Given the description of an element on the screen output the (x, y) to click on. 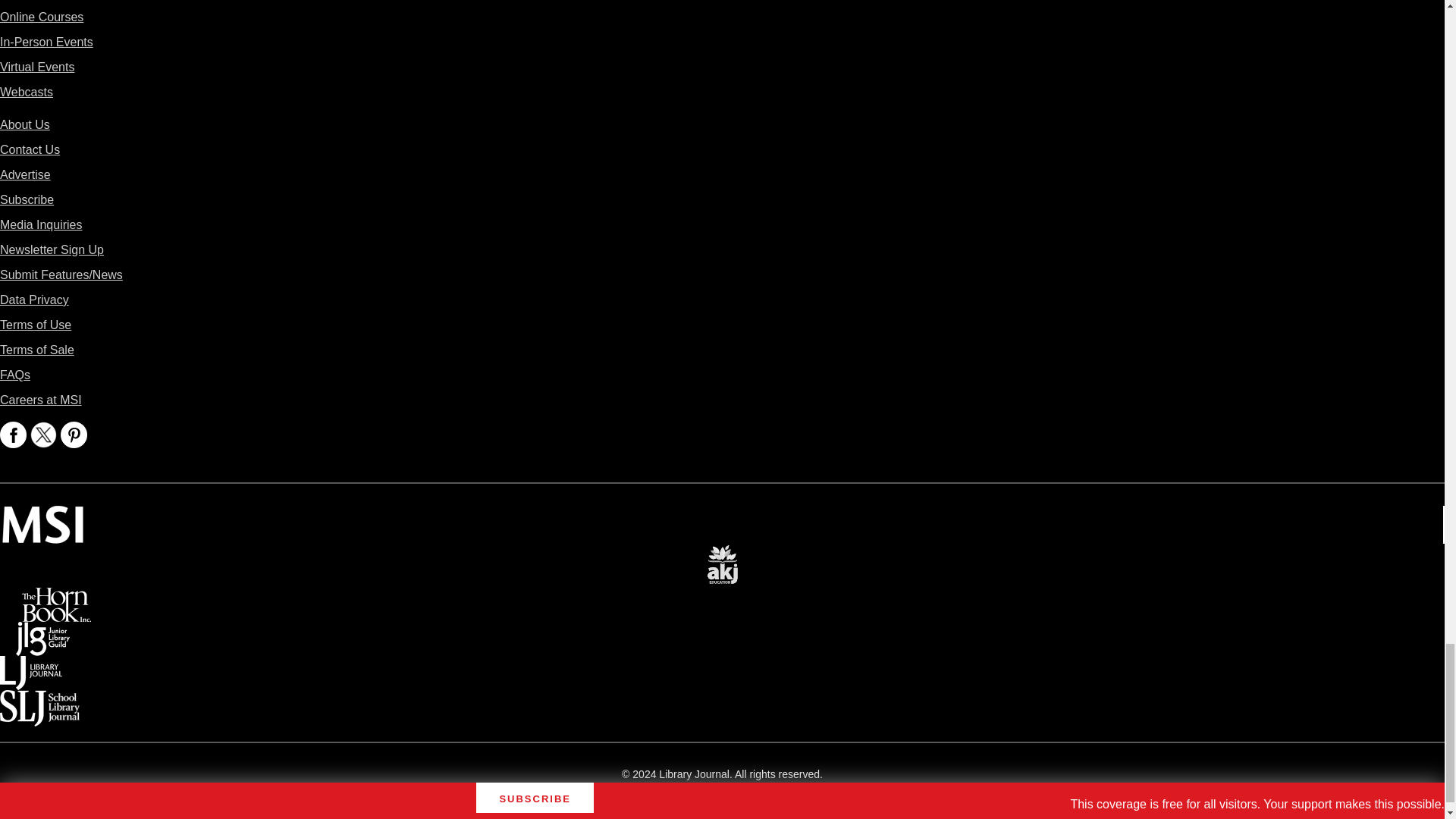
Media Source Incorporated (42, 516)
Junior Library Guild (42, 631)
The Horn Book (56, 598)
AKJ (722, 554)
School Library Journal (40, 700)
